Given the description of an element on the screen output the (x, y) to click on. 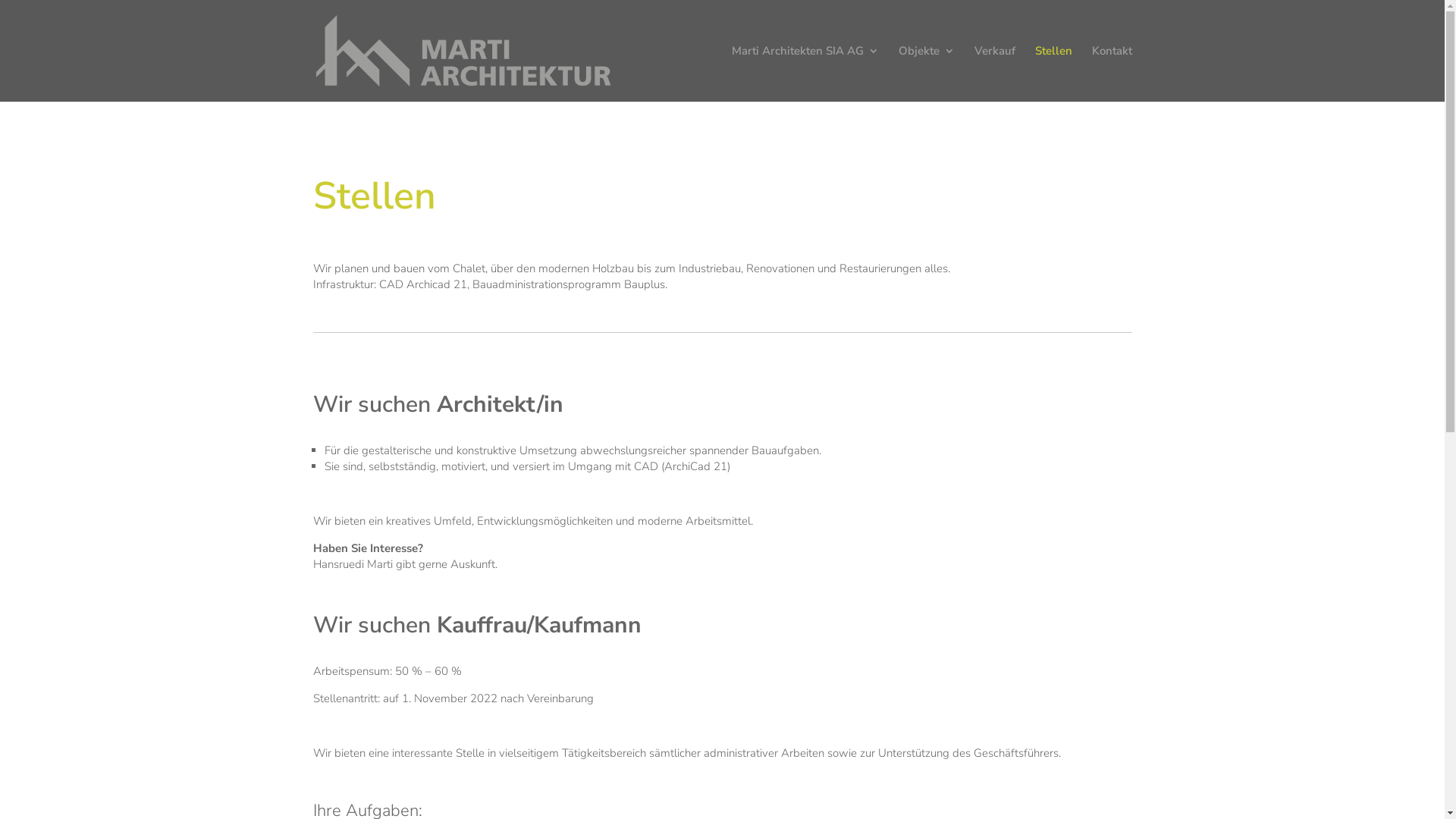
Objekte Element type: text (925, 73)
Marti Architekten SIA AG Element type: text (804, 73)
Verkauf Element type: text (993, 73)
Stellen Element type: text (1052, 73)
Kontakt Element type: text (1112, 73)
